Given the description of an element on the screen output the (x, y) to click on. 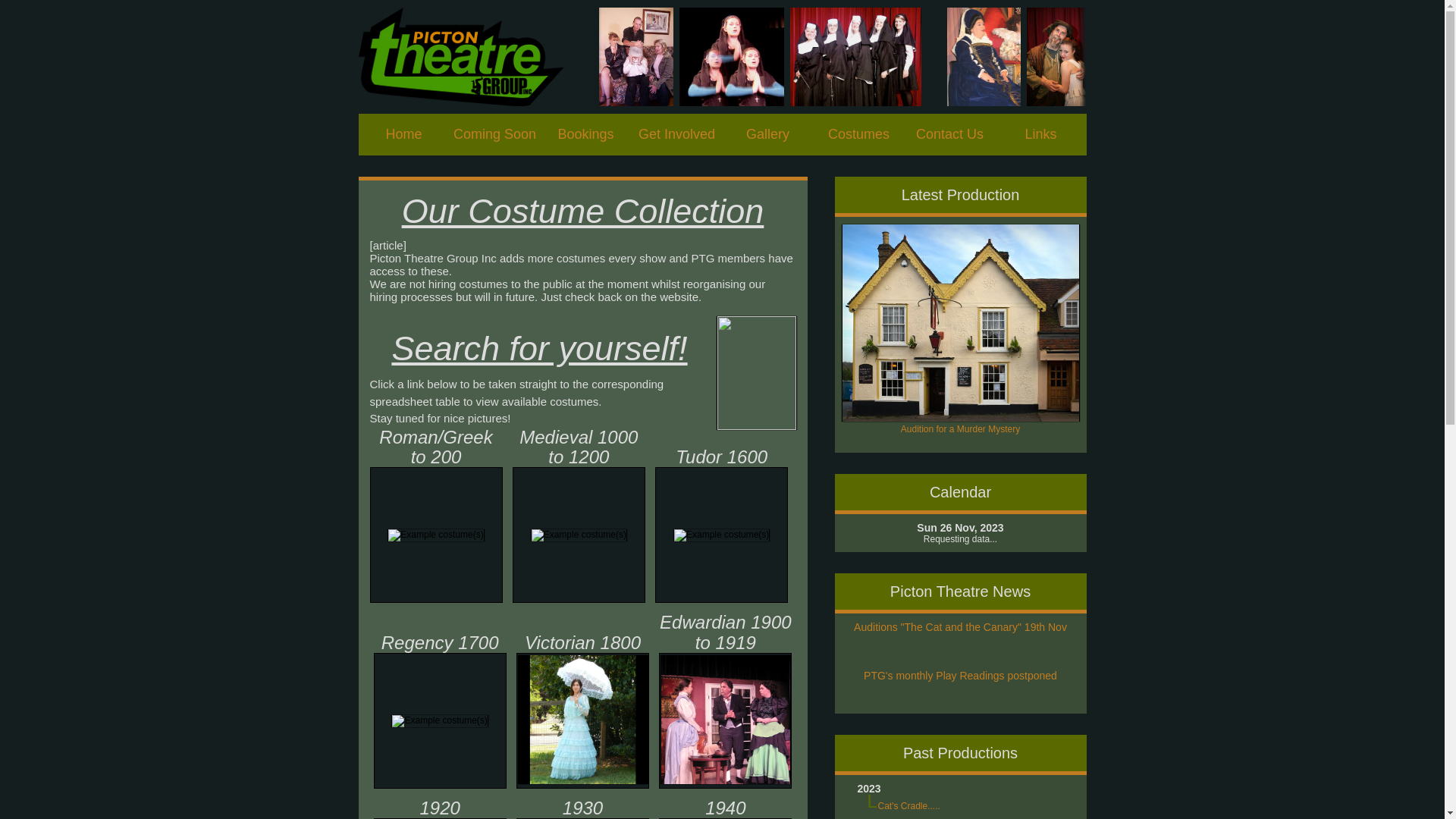
Roman/Greek to 200 Element type: hover (436, 534)
Edwardian 1900 to 1919 Element type: hover (725, 719)
Coming Soon Element type: text (493, 134)
Victorian 1800 Element type: hover (582, 720)
Auditions "The Cat and the Canary" 19th Nov Element type: text (959, 627)
PTG's monthly Play Readings postponed Element type: text (960, 675)
Medieval 1000 to 1200 Element type: hover (578, 534)
Tudor 1600 Element type: hover (721, 535)
Edwardian 1900 to 1919 Element type: hover (724, 720)
Regency 1700 Element type: hover (439, 720)
Tudor 1600 Element type: hover (721, 534)
Bookings Element type: text (584, 134)
Gallery Element type: text (766, 134)
Cat's Cradle..... Element type: text (909, 805)
Victorian 1800 Element type: hover (582, 719)
Contact Us Element type: text (948, 134)
Audition for a Murder Mystery Element type: text (959, 423)
Costumes Element type: text (857, 134)
Links Element type: text (1039, 134)
Medieval 1000 to 1200 Element type: hover (578, 535)
Get Involved Element type: text (675, 134)
Home Element type: text (402, 134)
Regency 1700 Element type: hover (439, 721)
Roman/Greek to 200 Element type: hover (435, 535)
